Given the description of an element on the screen output the (x, y) to click on. 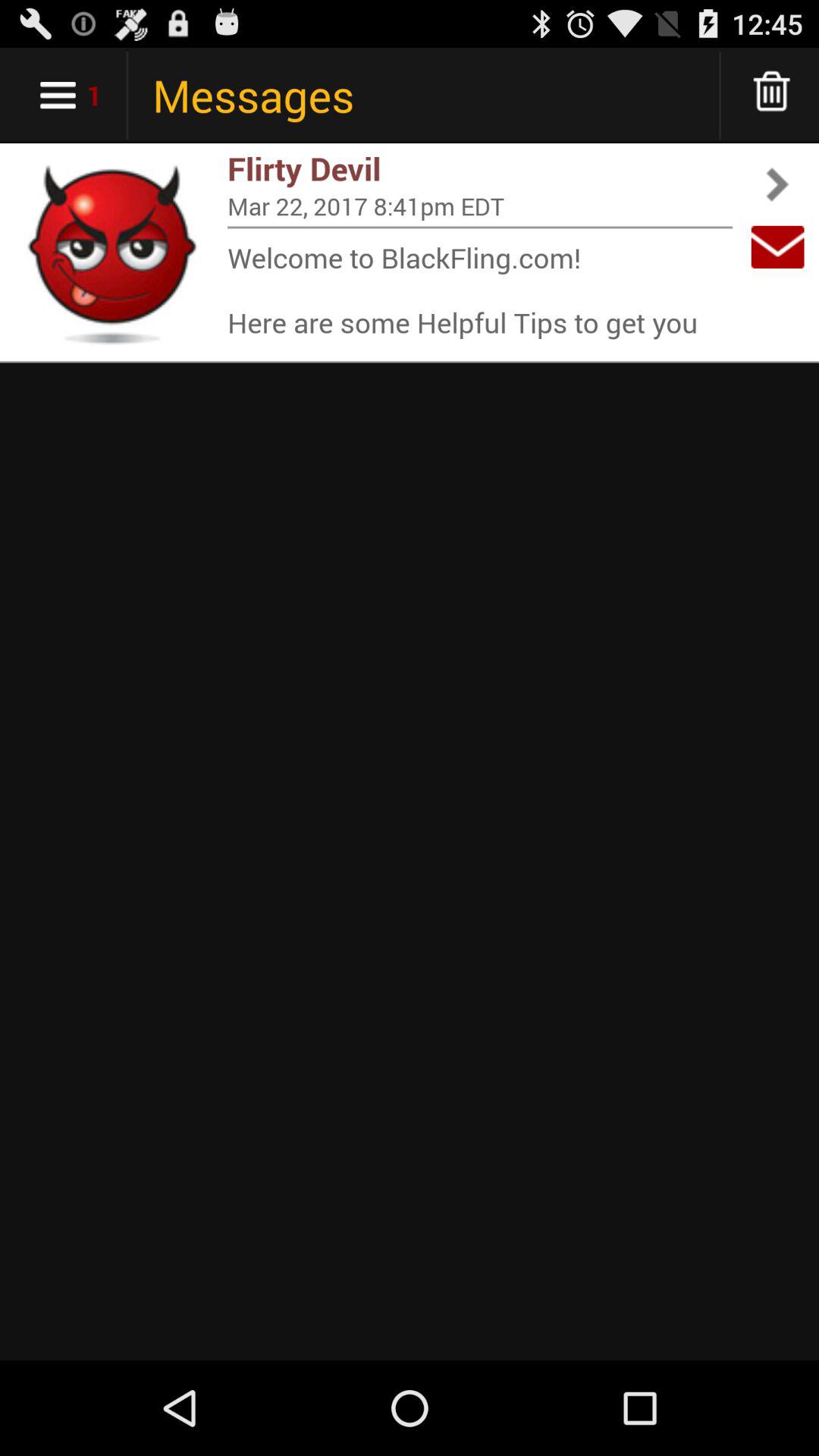
launch app above flirty devil (772, 95)
